Given the description of an element on the screen output the (x, y) to click on. 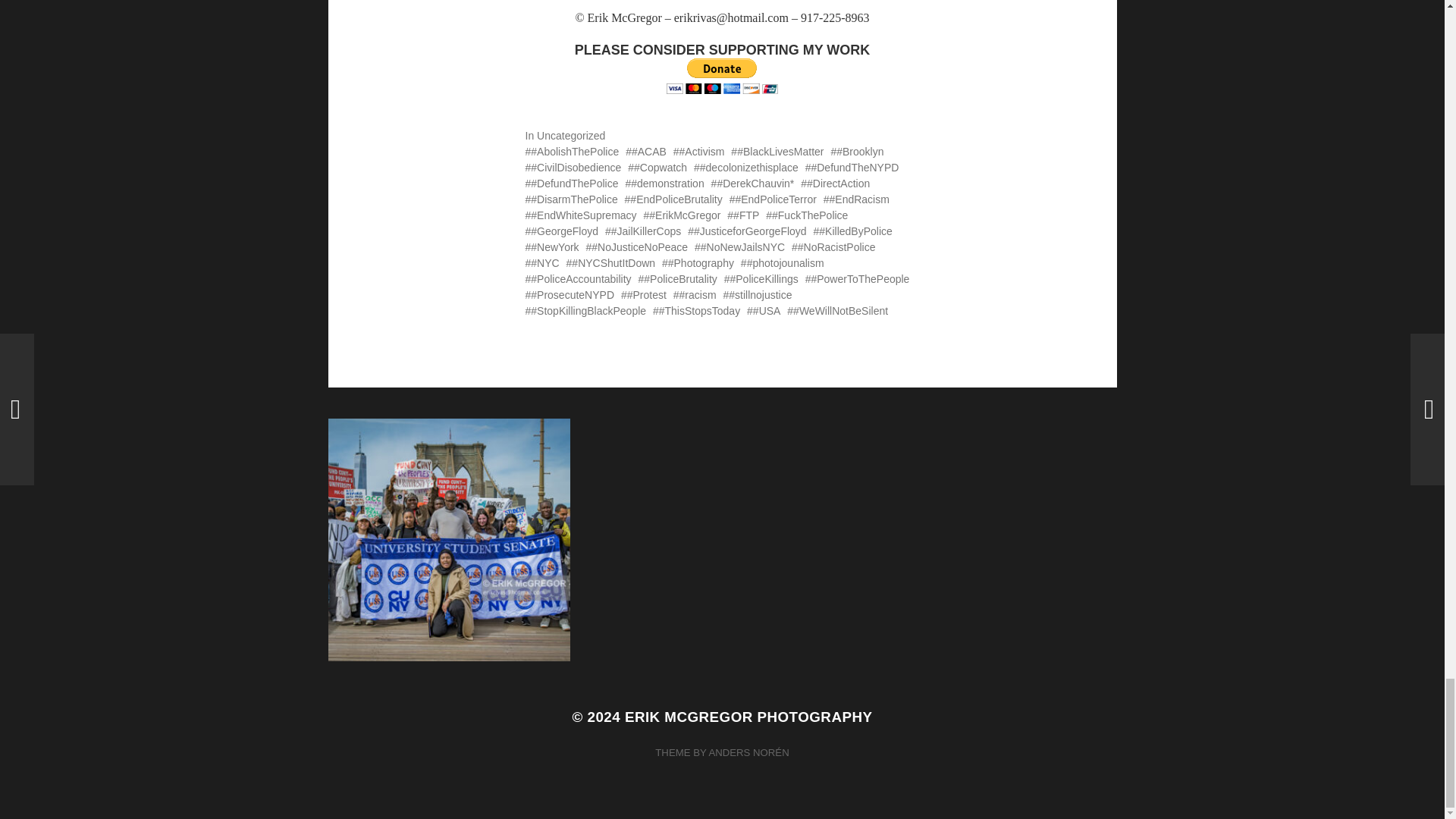
PayPal - The safer, easier way to pay online! (721, 76)
Uncategorized (571, 135)
Justice For George Floyd march in Brooklyn (721, 4)
